Given the description of an element on the screen output the (x, y) to click on. 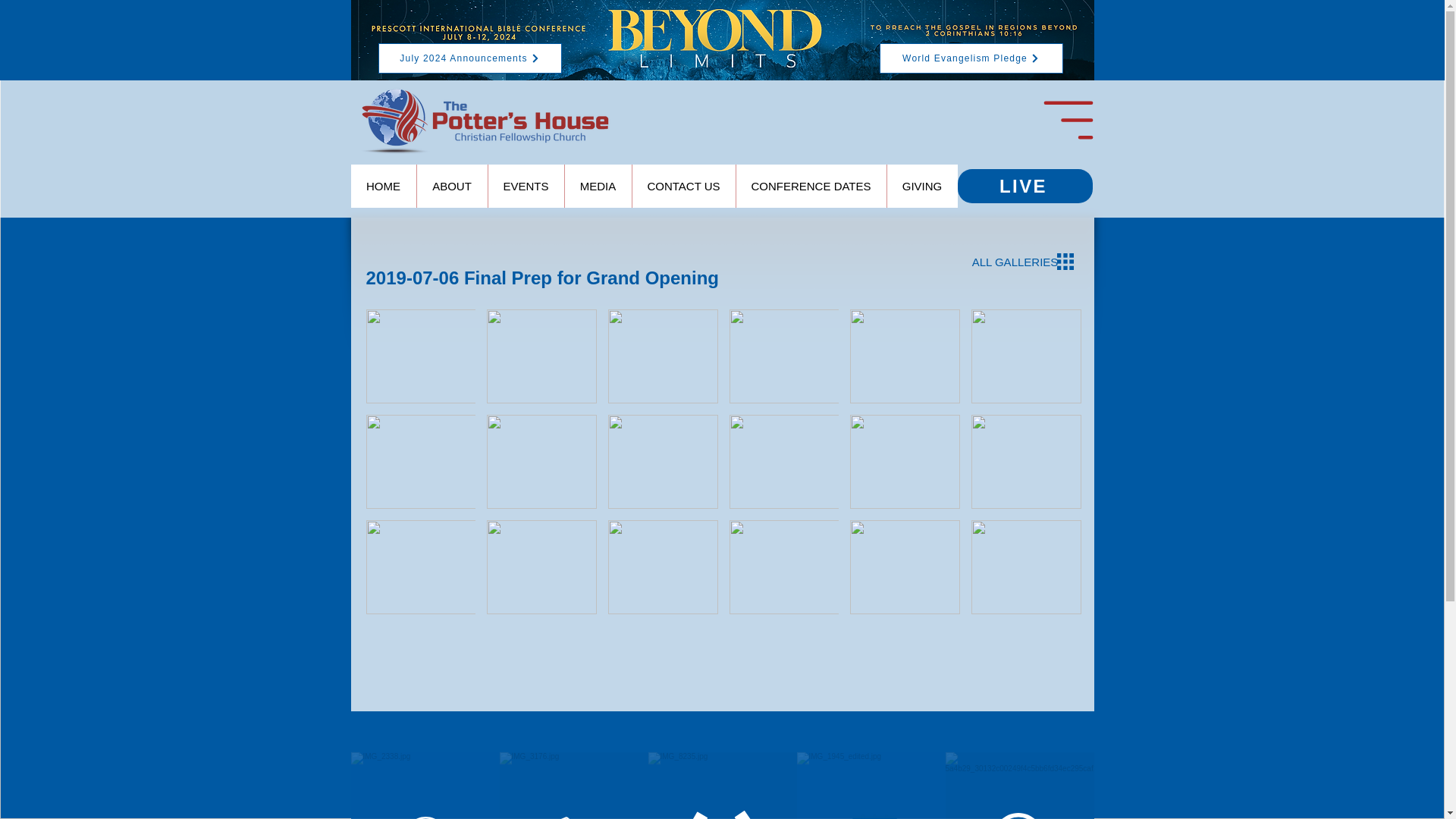
CONTACT US (682, 186)
ABOUT (450, 186)
MEDIA (597, 186)
EVENTS (524, 186)
ALL GALLERIES (1015, 262)
LIVE (1024, 185)
HOME (382, 186)
July 2024 Announcements (468, 58)
Potter's House Prescott (484, 120)
World Evangelism Pledge (970, 58)
GIVING (920, 186)
CONFERENCE DATES (810, 186)
